Given the description of an element on the screen output the (x, y) to click on. 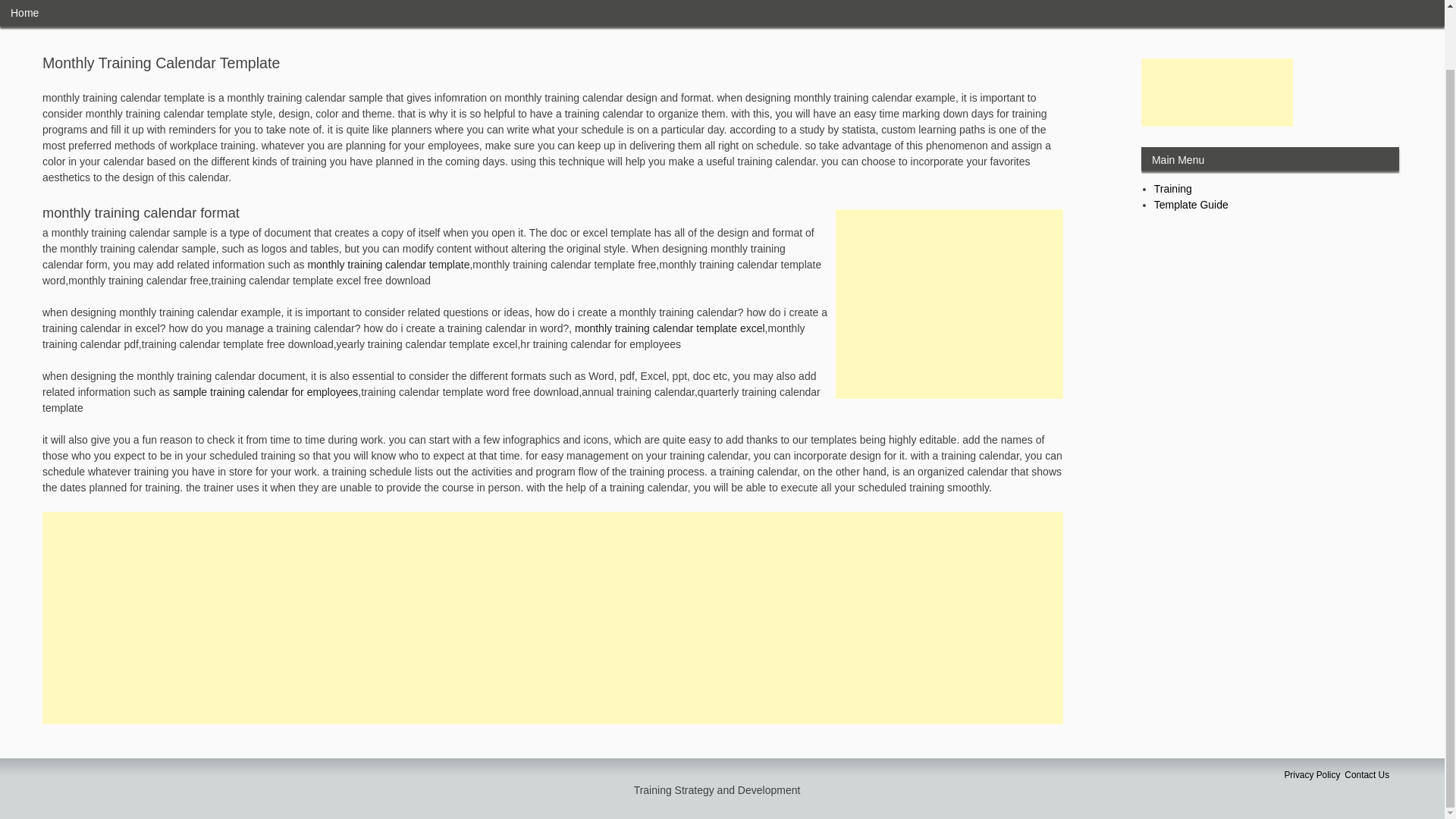
monthly training calendar template excel (670, 328)
Contact Us (1366, 774)
sample training calendar for employees (265, 391)
Advertisement (1216, 92)
Template Guide (1191, 204)
Privacy Policy (1311, 774)
Advertisement (948, 303)
Training (1173, 188)
Home (24, 13)
